Given the description of an element on the screen output the (x, y) to click on. 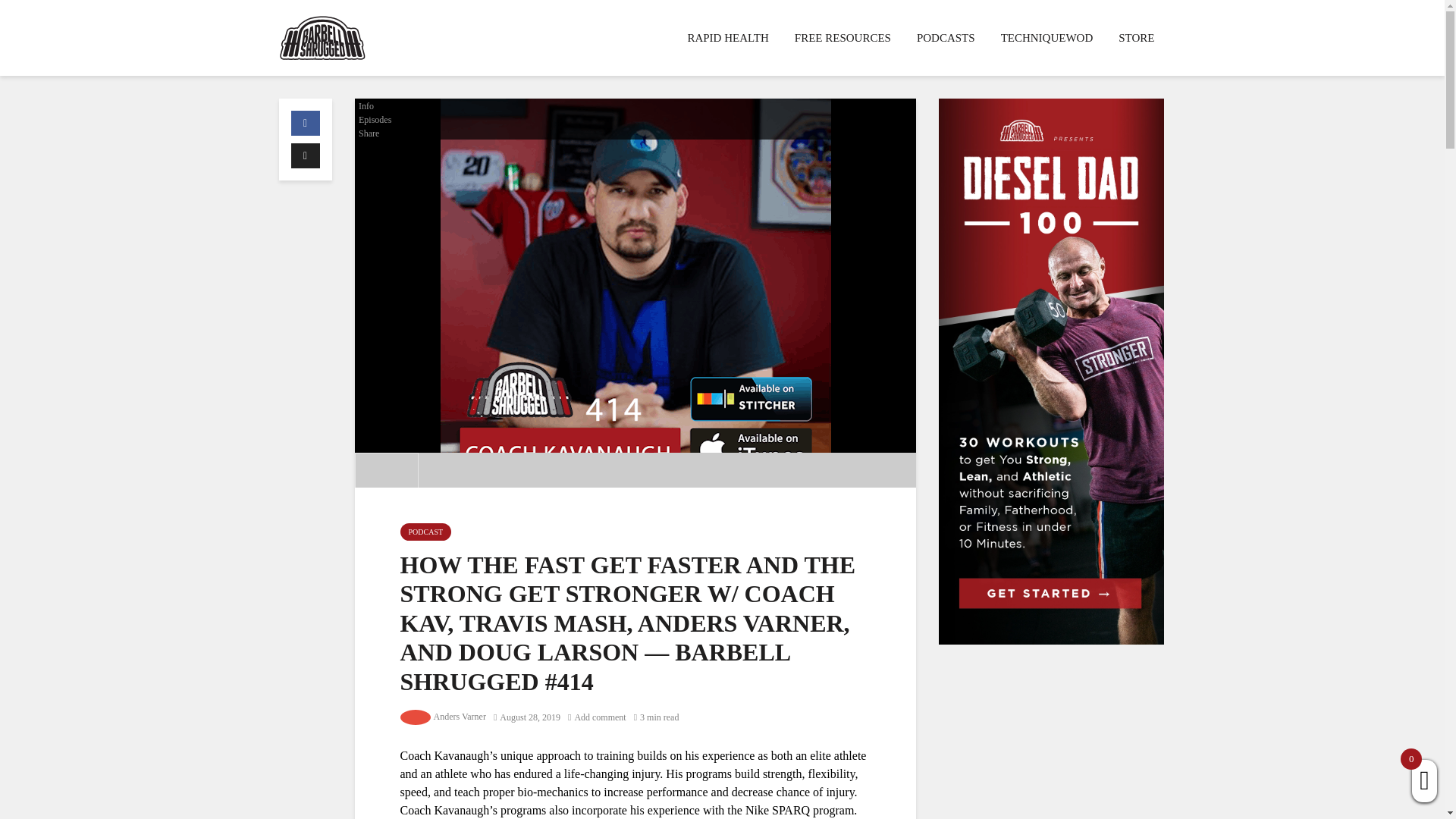
Add comment (596, 716)
STORE (1136, 37)
Anders Varner (459, 716)
PODCASTS (946, 37)
TECHNIQUEWOD (1047, 37)
PODCAST (425, 531)
FREE RESOURCES (842, 37)
RAPID HEALTH (726, 37)
